Given the description of an element on the screen output the (x, y) to click on. 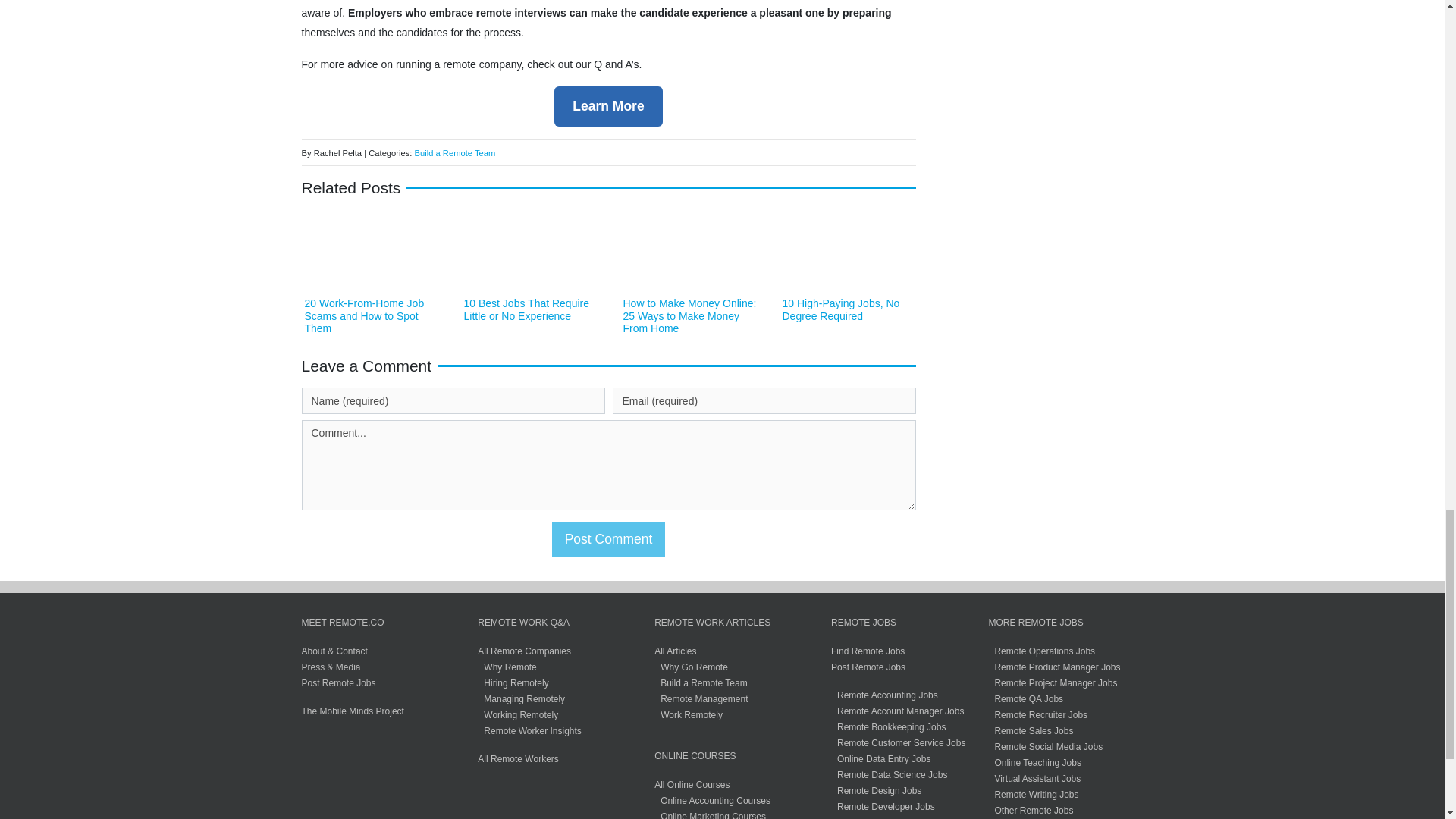
Post Comment (608, 539)
10 Best Jobs That Require Little or No Experience (526, 309)
Build a Remote Team (455, 153)
Post Comment (608, 539)
10 High-Paying Jobs, No Degree Required (841, 309)
Learn More (608, 106)
20 Work-From-Home Job Scams and How to Spot Them (364, 315)
How to Make Money Online: 25 Ways to Make Money From Home (690, 315)
